Given the description of an element on the screen output the (x, y) to click on. 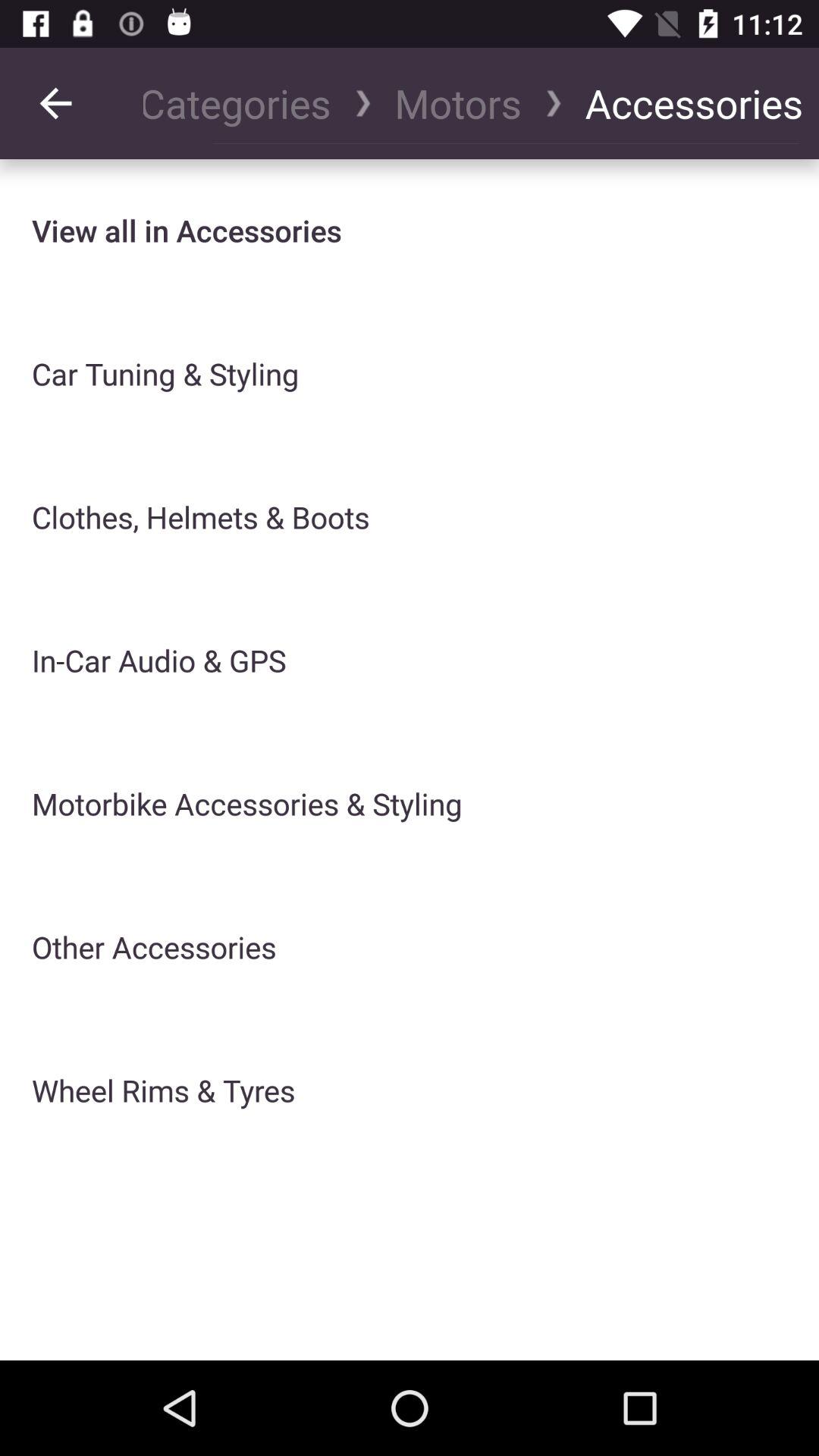
jump to the view all in icon (186, 230)
